Given the description of an element on the screen output the (x, y) to click on. 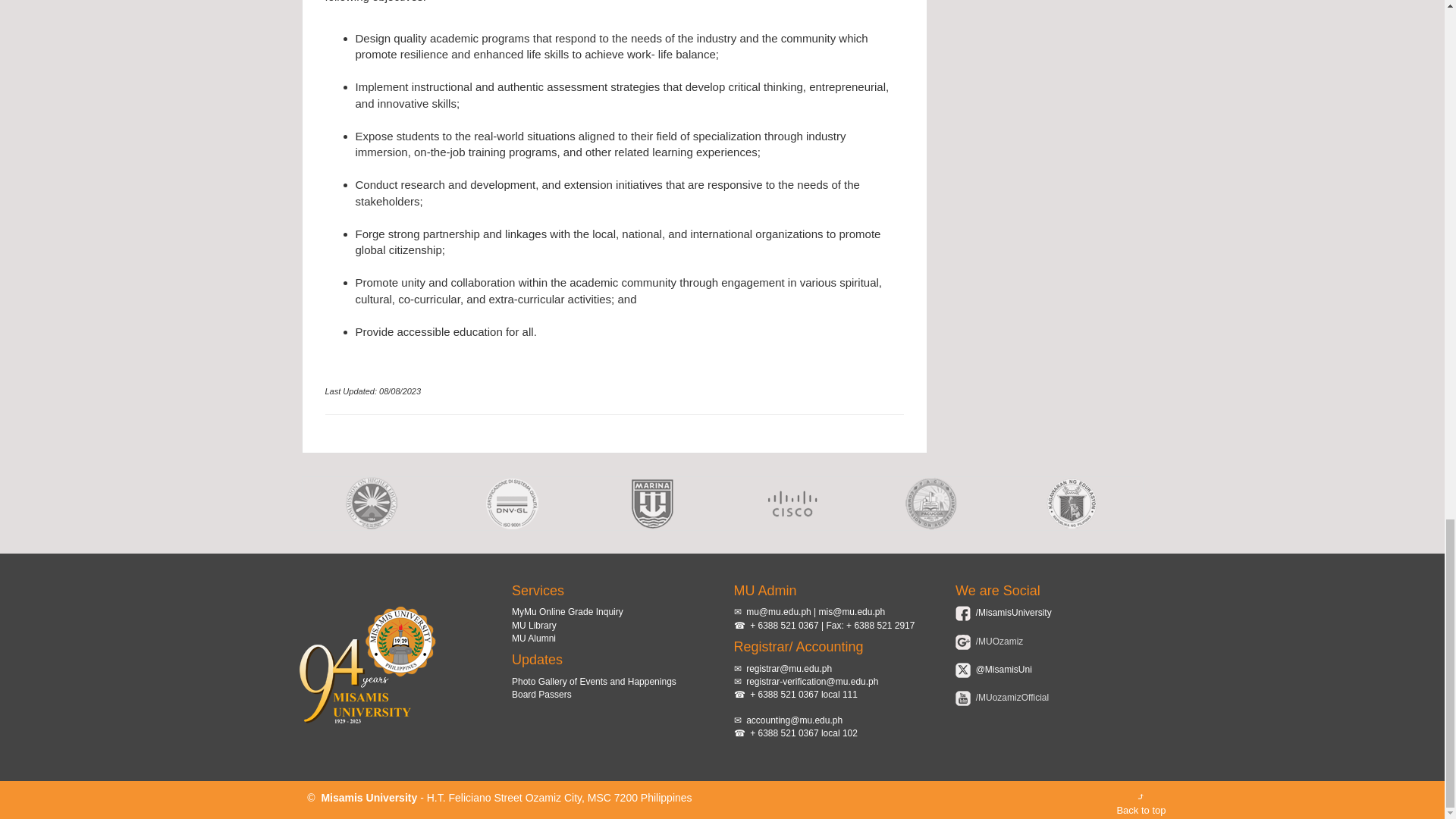
Misamis University Official Yoututbe Channel (1010, 697)
Back to Top (1141, 804)
Misamis University Twitter Page (1002, 669)
Misamis University Google Plus Account (997, 641)
Misamis University Facebook Fan page (1011, 613)
